Given the description of an element on the screen output the (x, y) to click on. 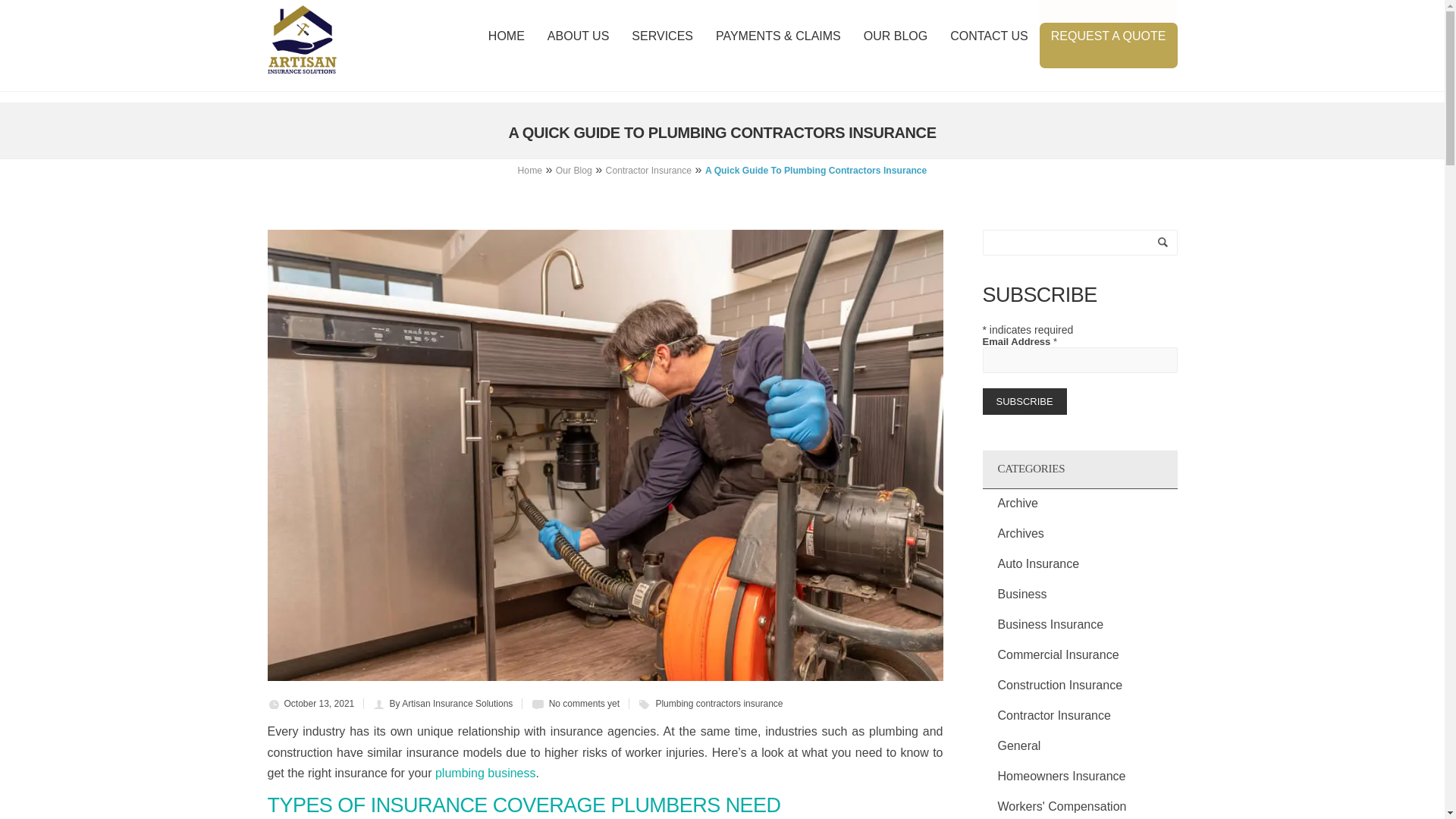
Subscribe (1024, 401)
